Given the description of an element on the screen output the (x, y) to click on. 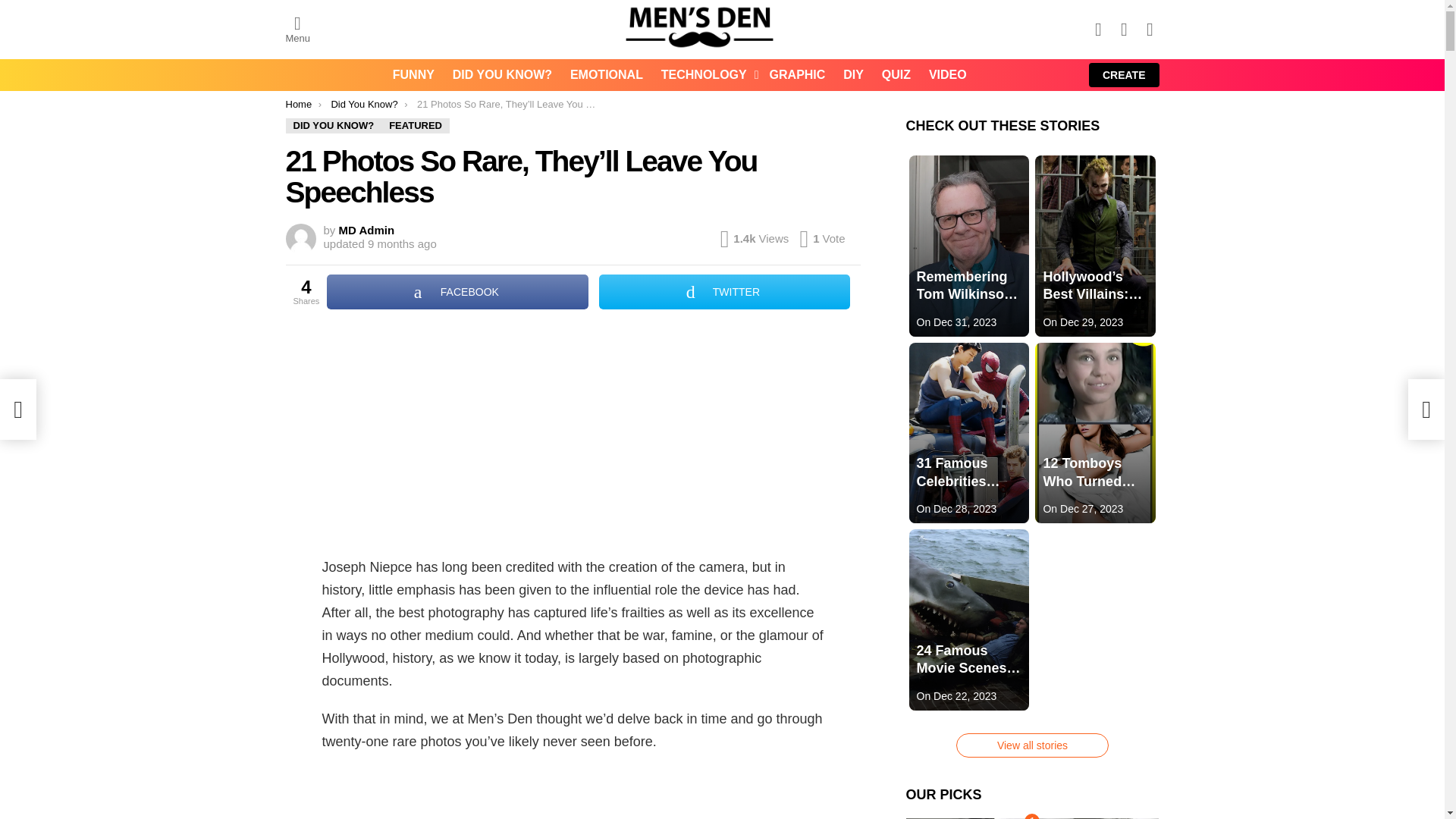
VIDEO (947, 74)
MD Admin (366, 229)
DID YOU KNOW? (502, 74)
November 25, 2023, 7:55 PM (402, 243)
Share on Facebook (457, 291)
QUIZ (896, 74)
FUNNY (413, 74)
GRAPHIC (796, 74)
DIY (852, 74)
TWITTER (723, 291)
